Given the description of an element on the screen output the (x, y) to click on. 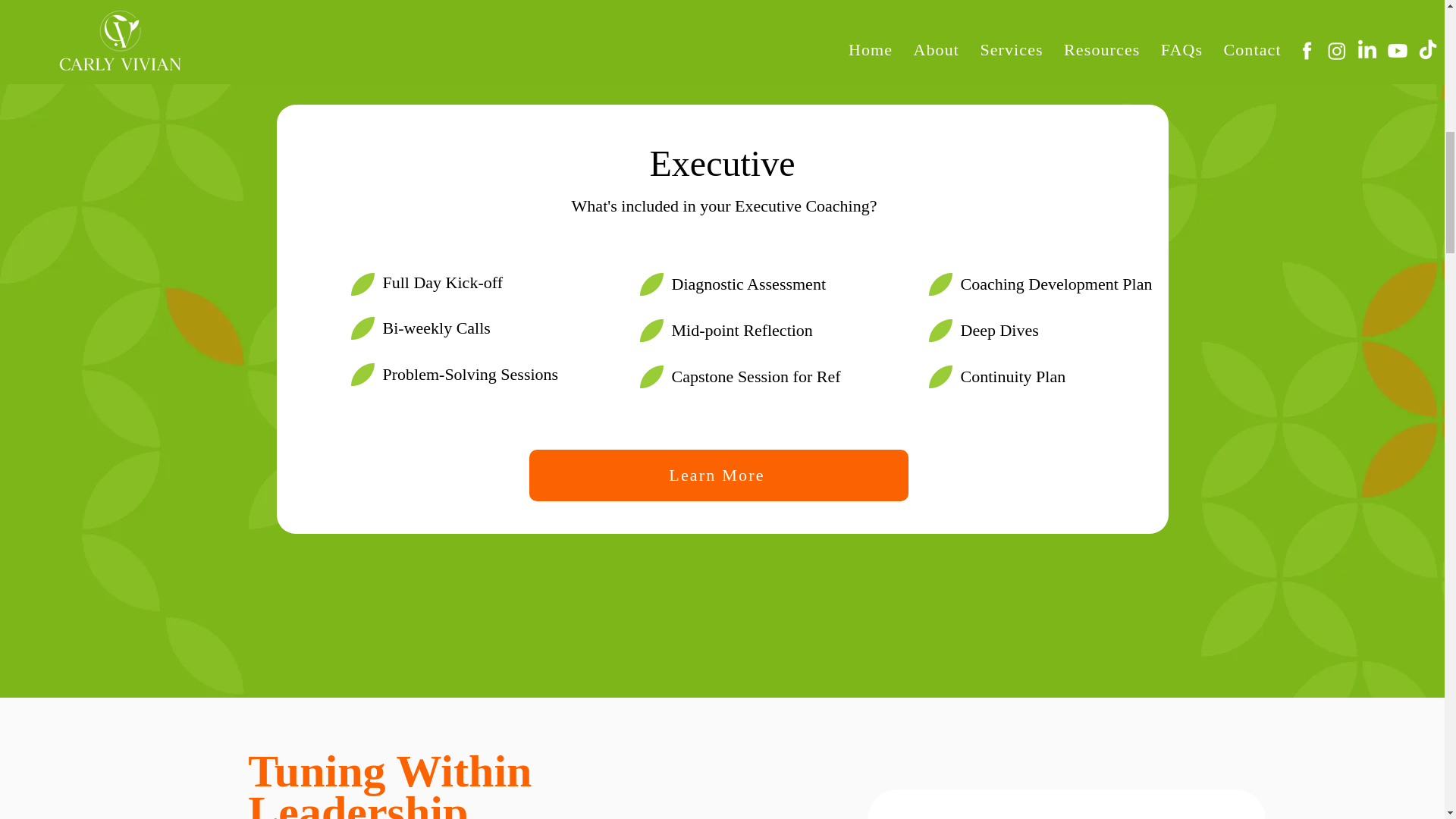
Learn More (718, 475)
